Given the description of an element on the screen output the (x, y) to click on. 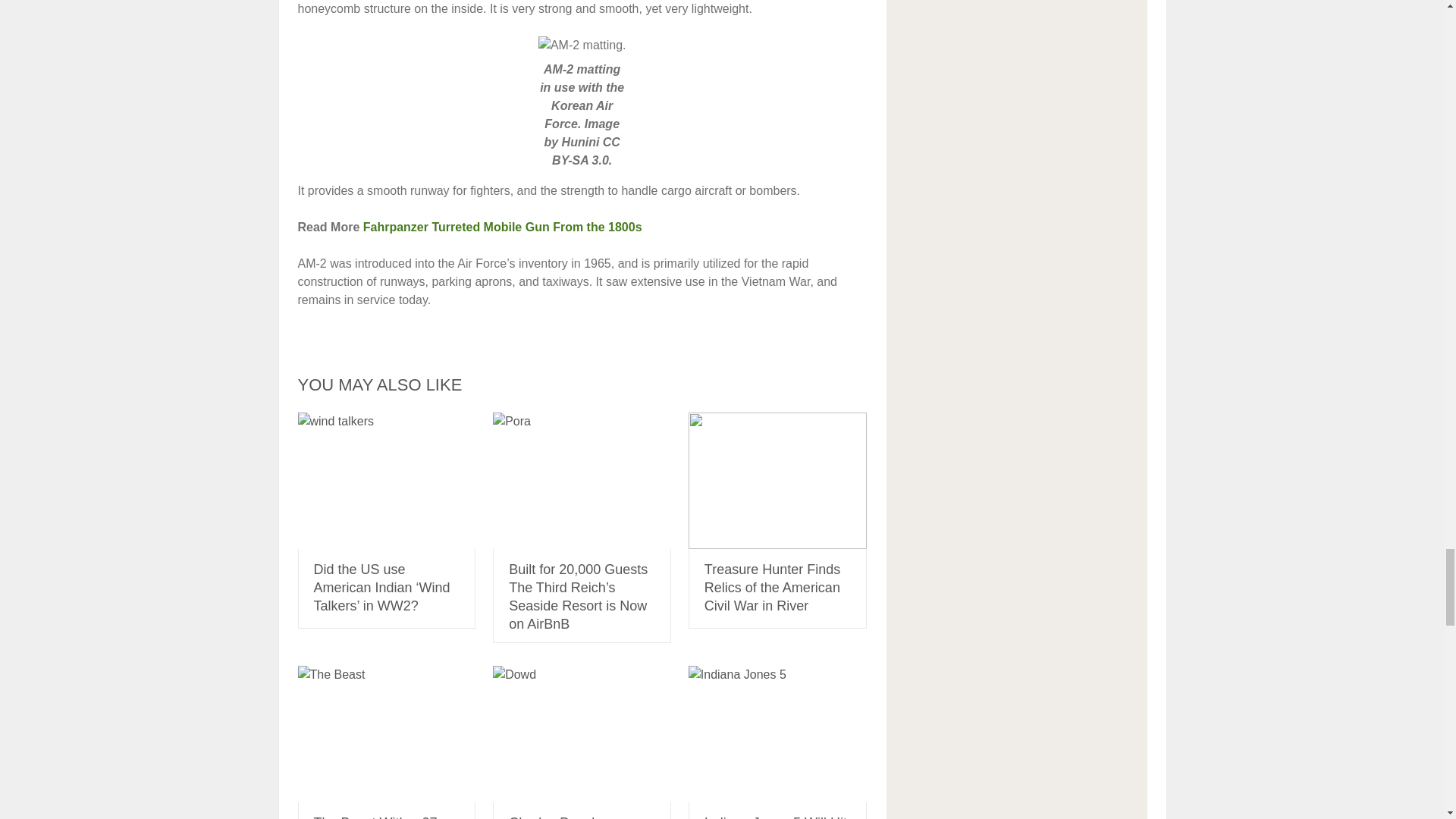
Fahrpanzer Turreted Mobile Gun From the 1800s (502, 226)
Indiana Jones 5 Will Hit the Big Screens this Summer (777, 733)
